Given the description of an element on the screen output the (x, y) to click on. 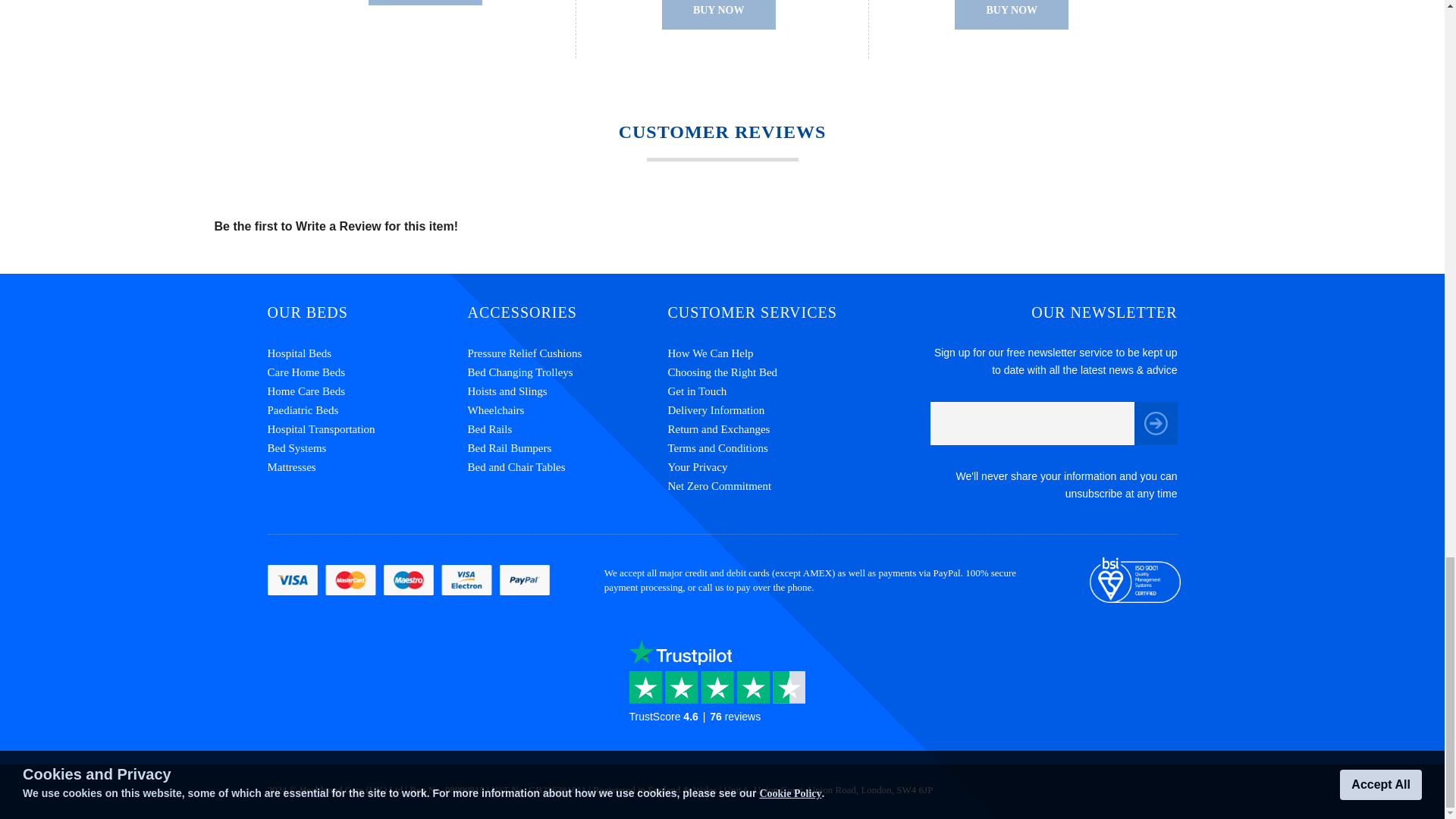
BUY NOW (719, 14)
Customer reviews powered by Trustpilot (721, 694)
Pressure Relief Cushions (566, 353)
Hospital Transportation (366, 429)
Care Home Beds (366, 372)
Home Care Beds (366, 391)
BUY NOW (424, 2)
Write a Review (338, 226)
Paediatric Beds (366, 410)
Hospital Beds (366, 353)
Mattresses (366, 466)
BUY NOW (1011, 14)
Bed Systems (366, 447)
Bed Changing Trolleys (566, 372)
